Given the description of an element on the screen output the (x, y) to click on. 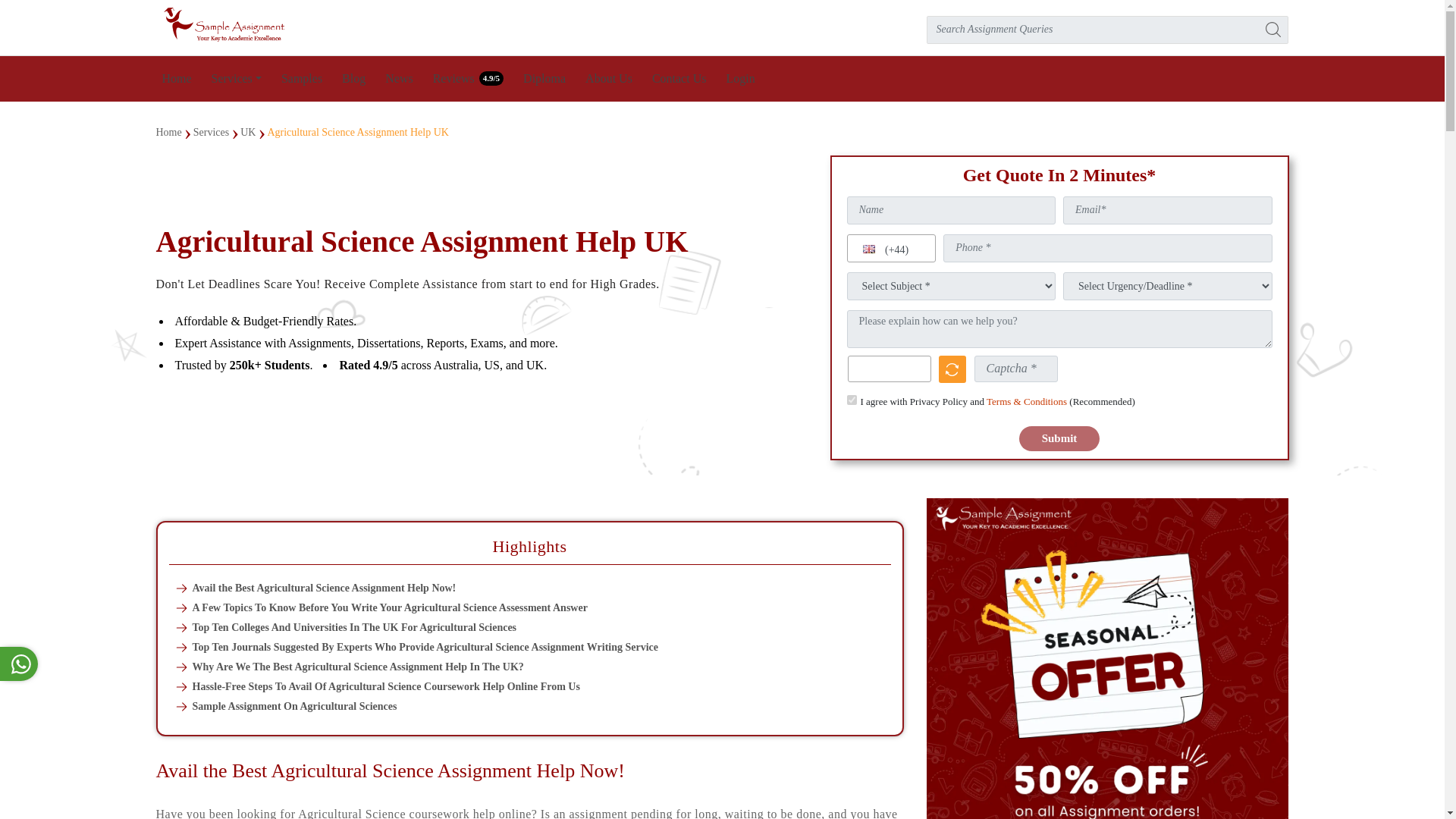
Avail the Best Agricultural Science Assignment Help Now! (529, 587)
Sample Assignment On Agricultural Sciences (529, 706)
Services (236, 78)
Sample Assignment On Agricultural Sciences (529, 706)
on (850, 399)
Home (176, 78)
